Given the description of an element on the screen output the (x, y) to click on. 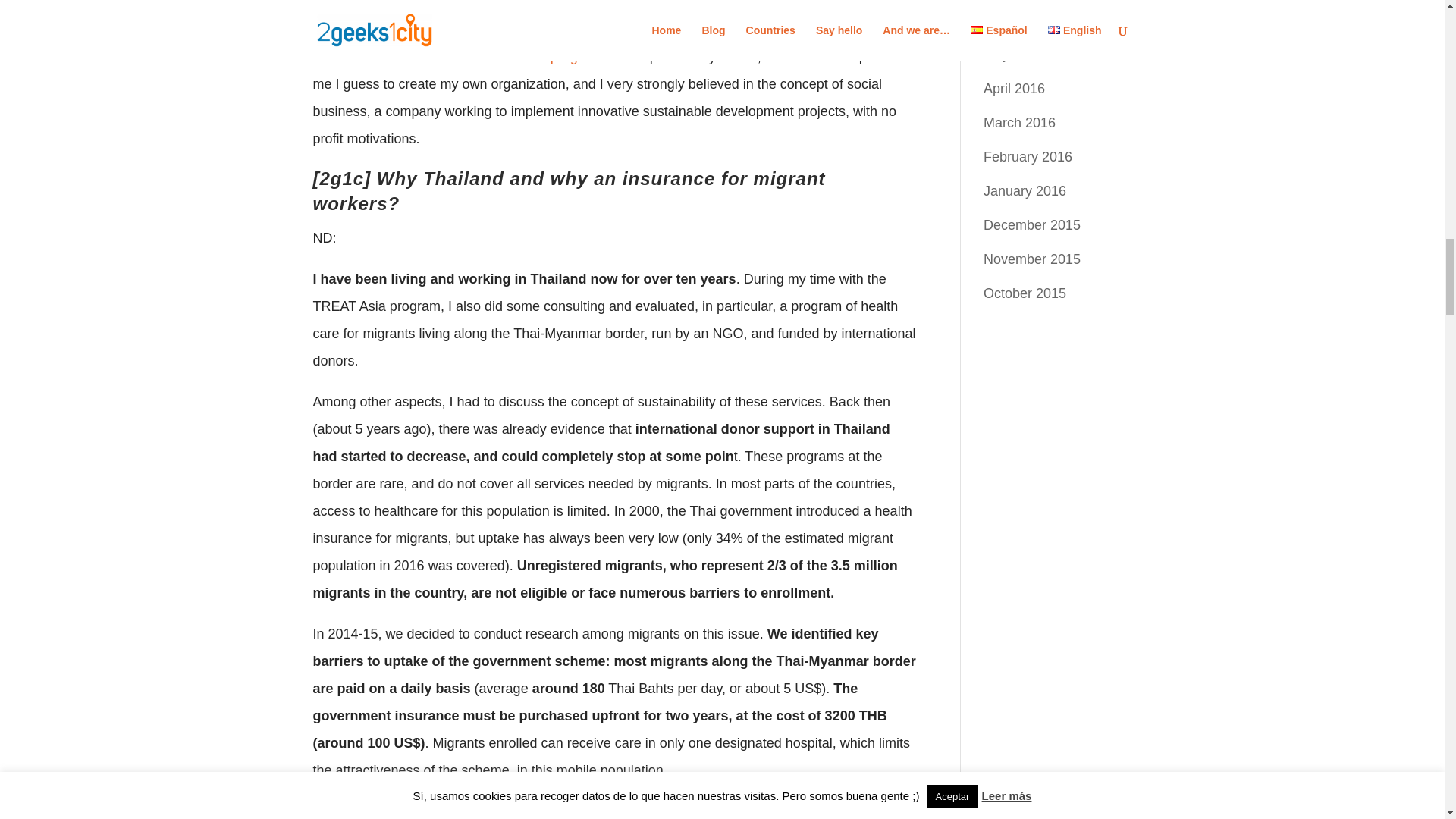
amfAR TREAT Asia program. (516, 56)
